Given the description of an element on the screen output the (x, y) to click on. 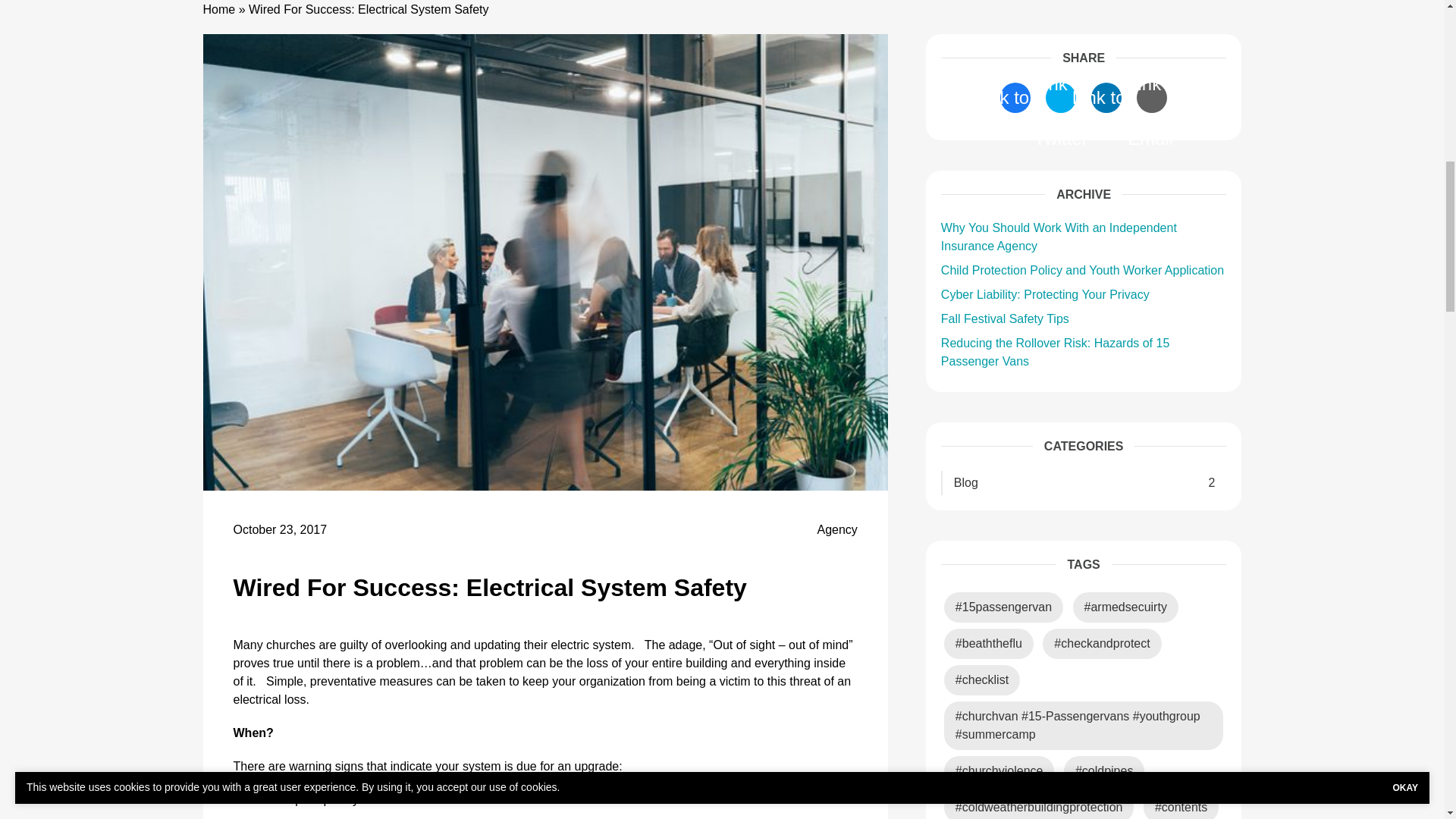
Why You Should Work With an Independent Insurance Agency (1058, 236)
Share Link to Twitter (1060, 97)
Child Protection Policy and Youth Worker Application (1082, 269)
Share Link to Email (1152, 97)
Home (219, 9)
Agency (836, 529)
Share Link to Facebook (1015, 97)
QUOTE (1117, 4)
Agency (836, 529)
Share Link to LinkedIn (1105, 97)
